Given the description of an element on the screen output the (x, y) to click on. 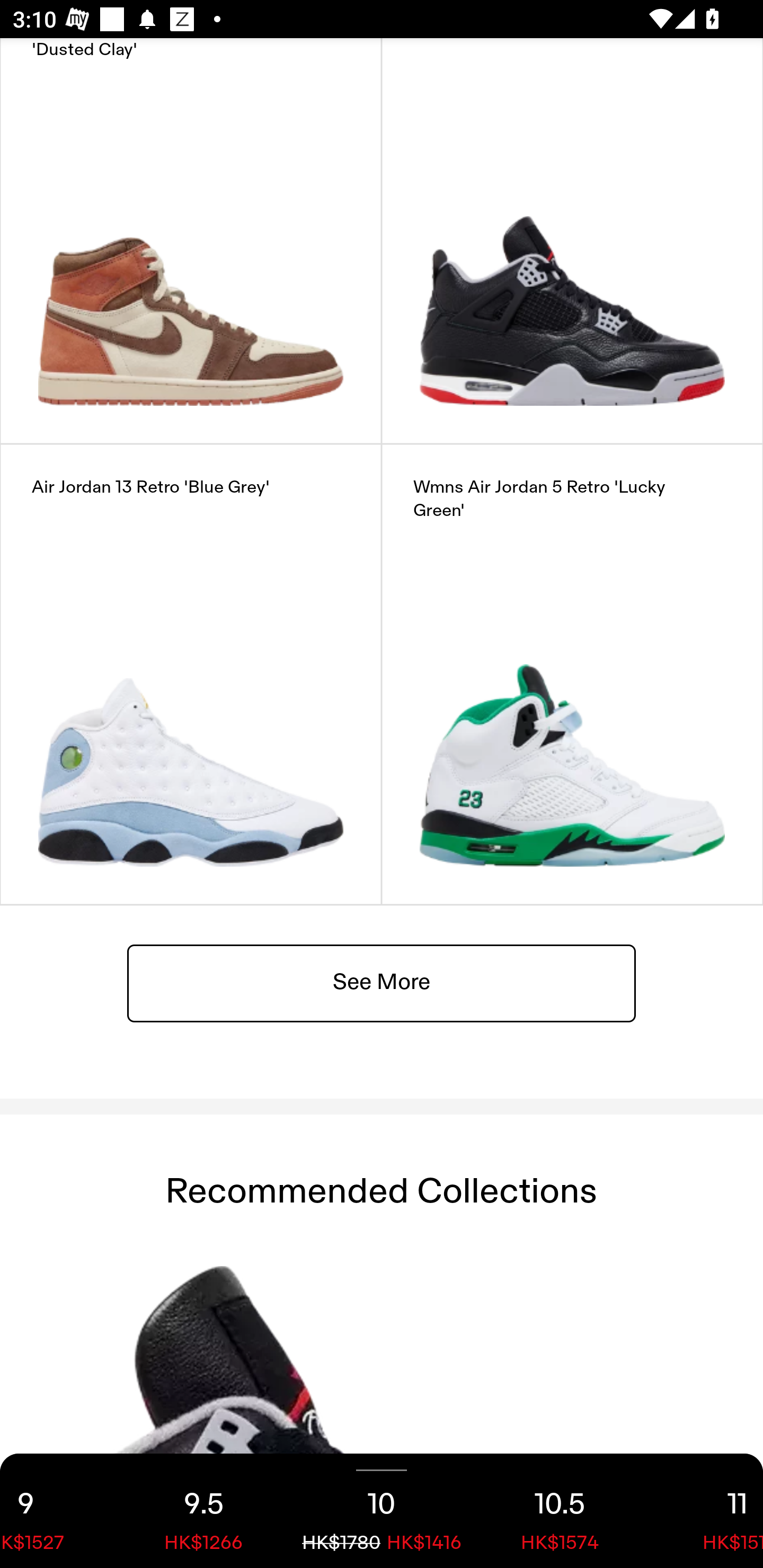
Wmns Air Jordan 1 Retro High OG 'Dusted Clay' (190, 240)
Air Jordan 4 Retro 'Bred Reimagined' (572, 240)
Air Jordan 13 Retro 'Blue Grey' (190, 673)
Wmns Air Jordan 5 Retro 'Lucky Green' (572, 673)
See More (381, 982)
9 HK$1527 (57, 1510)
9.5 HK$1266 (203, 1510)
10 HK$1780 HK$1416 (381, 1510)
10.5 HK$1574 (559, 1510)
11 HK$1511 (705, 1510)
